Given the description of an element on the screen output the (x, y) to click on. 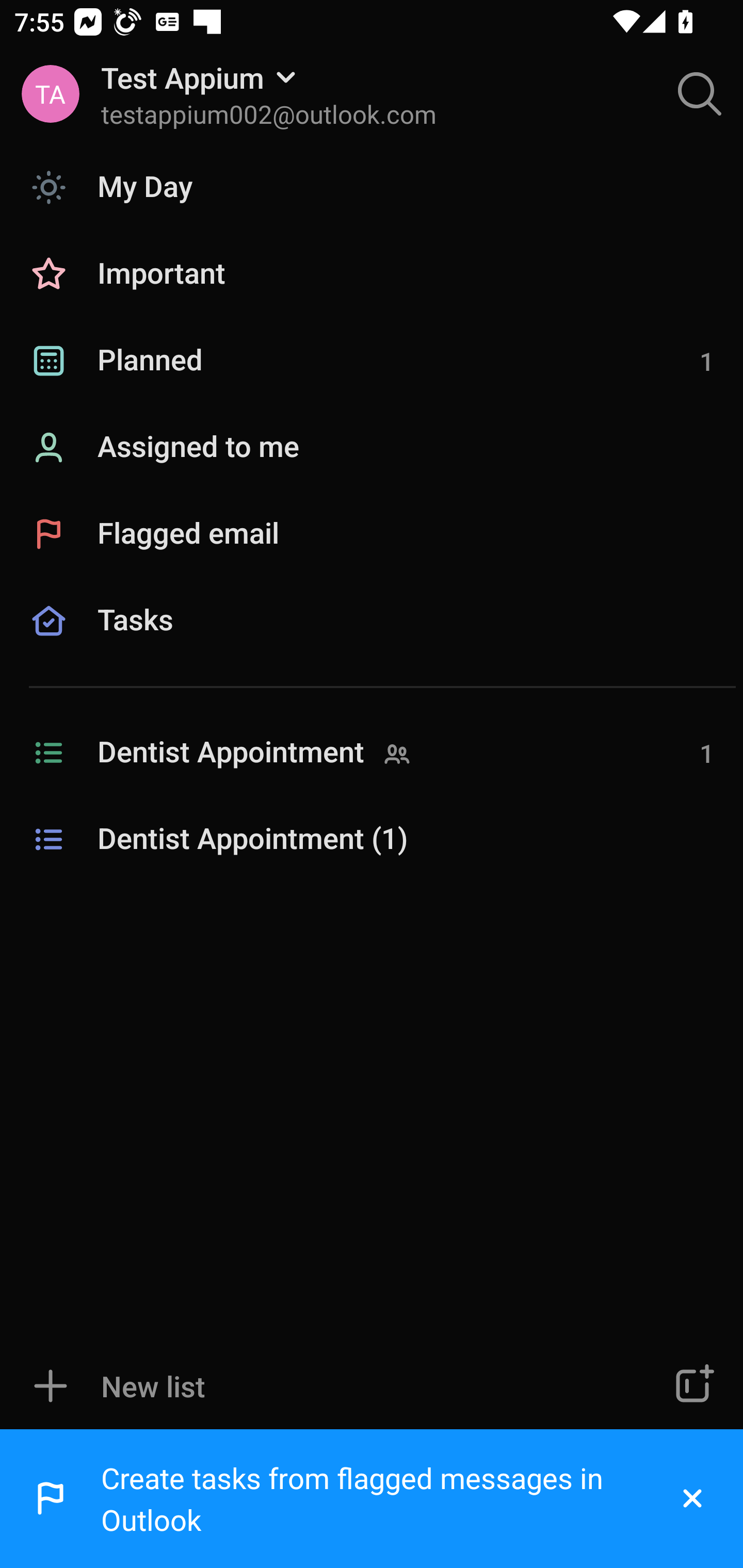
Enter search (699, 93)
My Day, 0 tasks My Day (371, 187)
Important, 0 tasks Important (371, 274)
Planned, 1 tasks Planned 1 (371, 361)
Assigned to me, 0 tasks Assigned to me (371, 447)
Flagged email (371, 533)
Tasks (371, 643)
Dentist Appointment (1) (371, 839)
New list (312, 1386)
Create group (692, 1386)
Close (692, 1498)
